Given the description of an element on the screen output the (x, y) to click on. 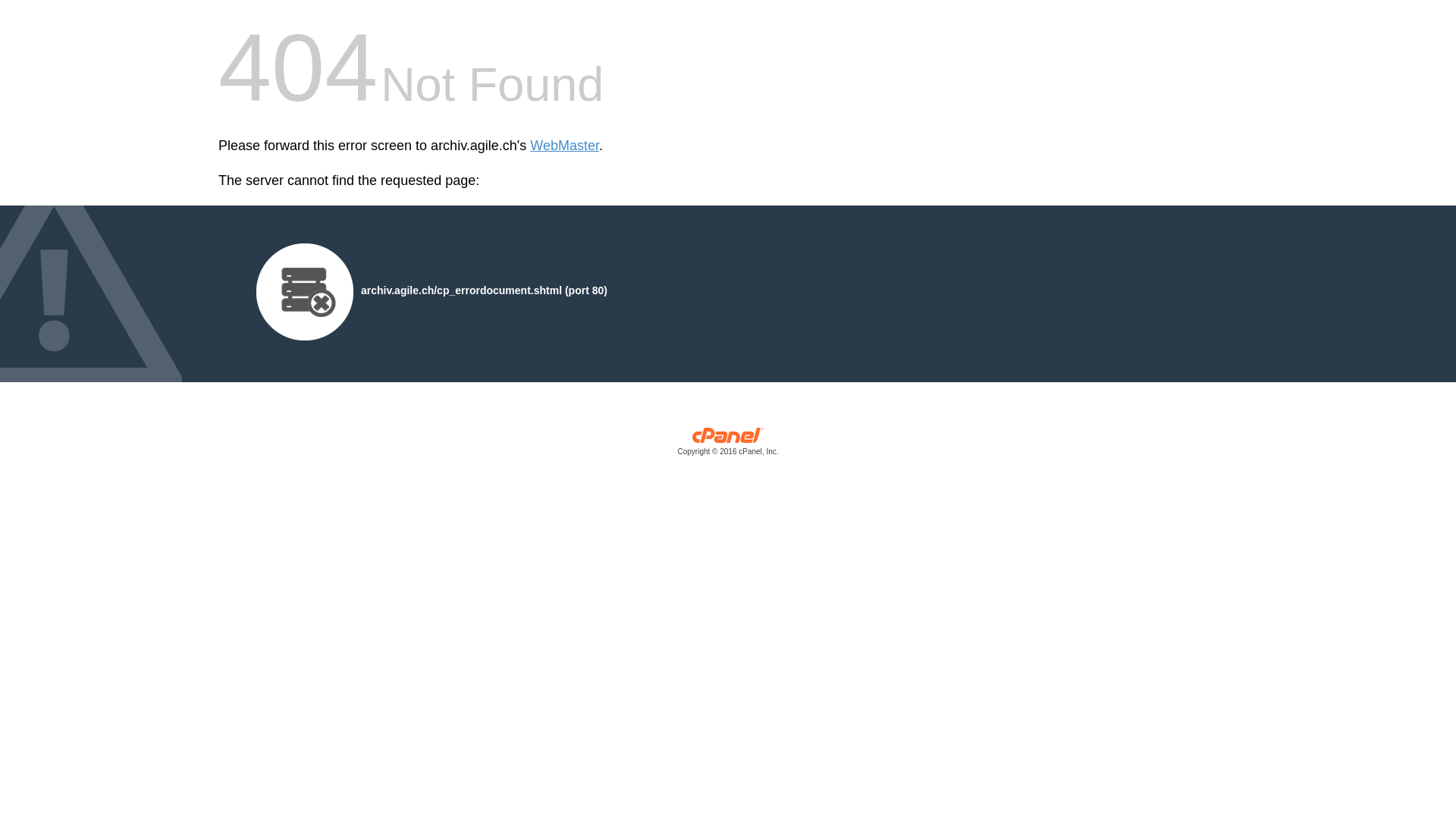
WebMaster Element type: text (564, 145)
